Given the description of an element on the screen output the (x, y) to click on. 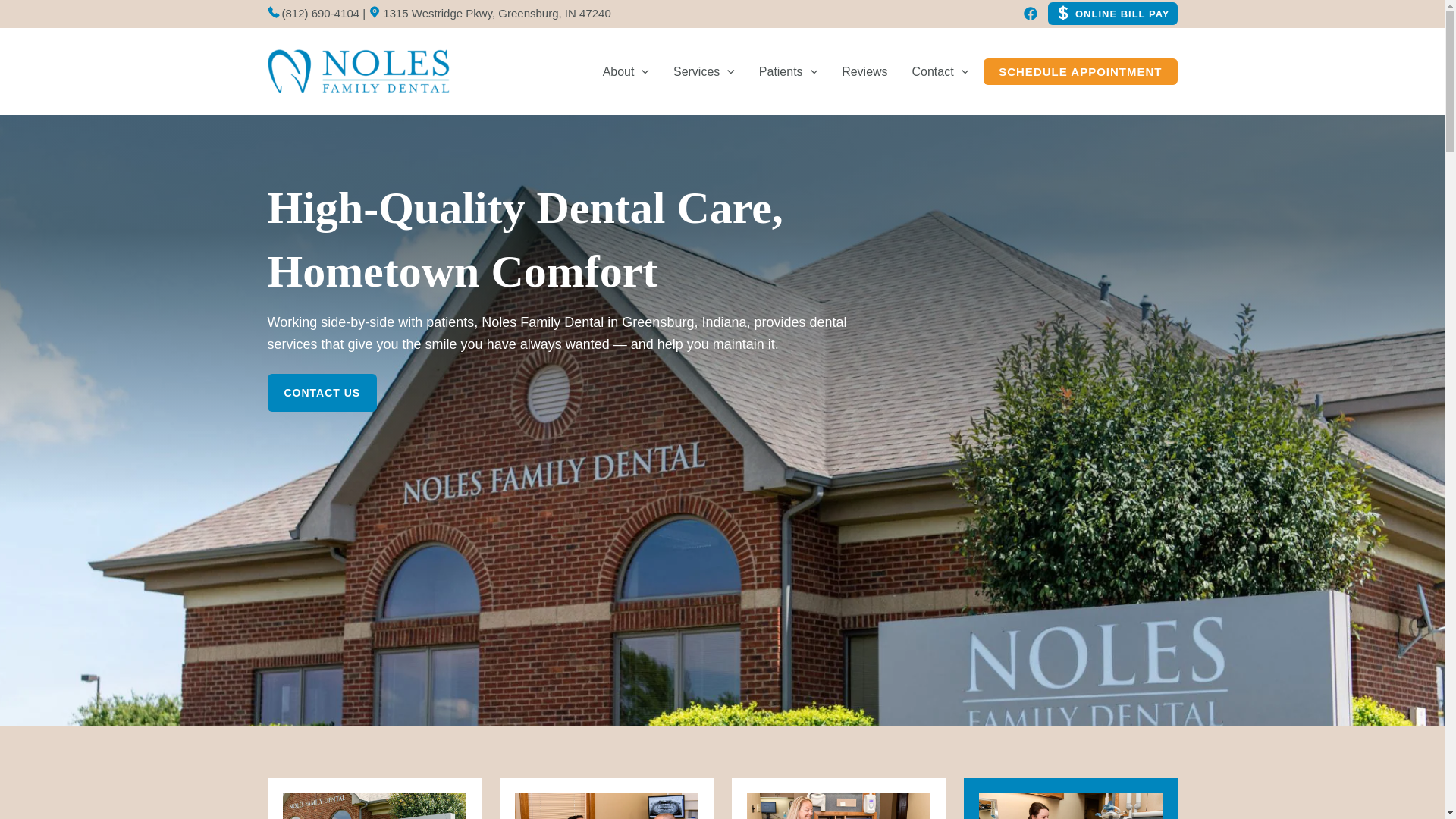
About (626, 70)
ONLINE BILL PAY (1109, 13)
Services (703, 70)
1315 Westridge Pkwy, Greensburg, IN 47240 (489, 12)
